Given the description of an element on the screen output the (x, y) to click on. 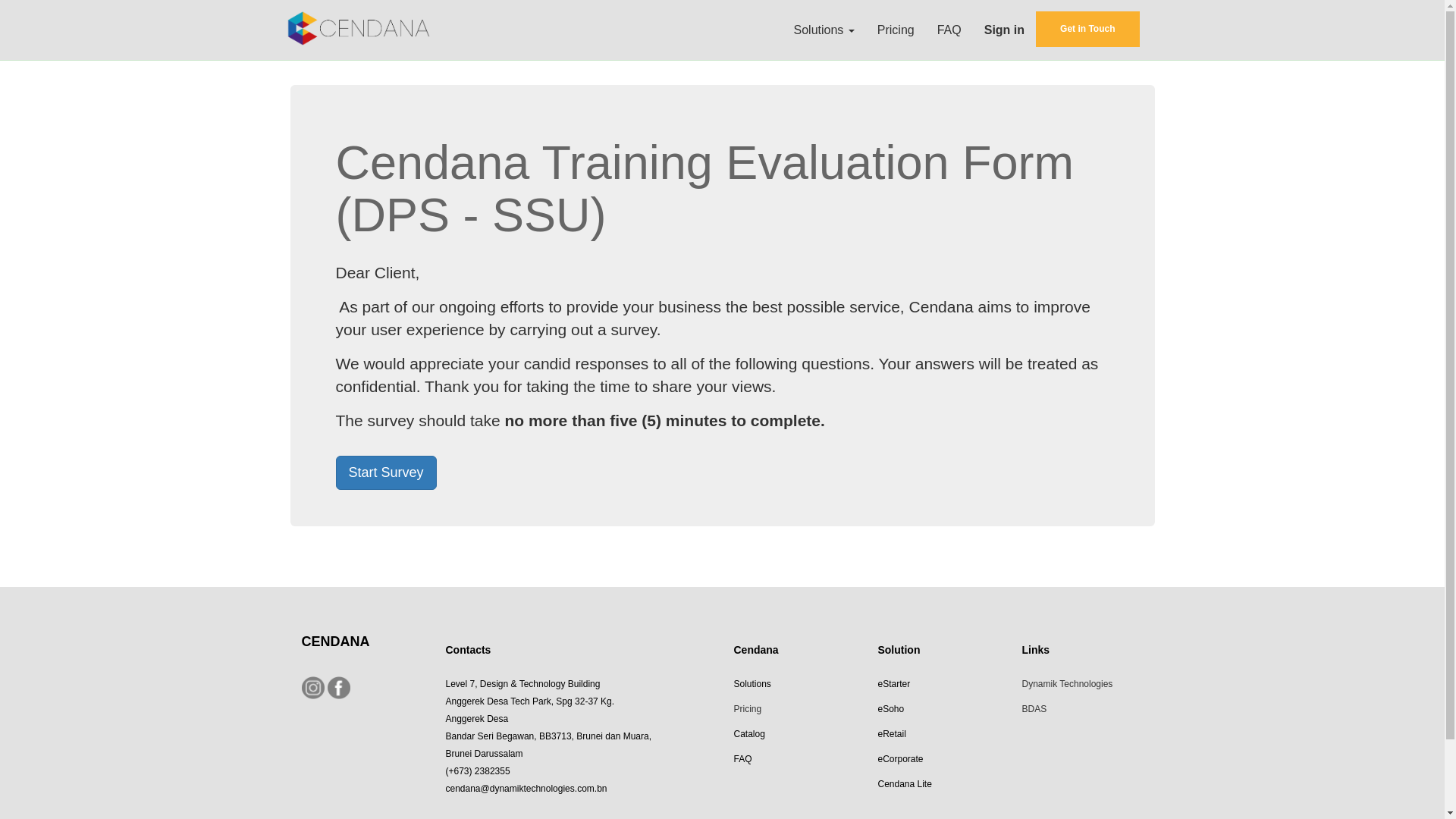
FAQ (949, 30)
Cendana Lite (904, 782)
Pricing (896, 30)
eCorporate (900, 757)
eStarter  (894, 682)
eRetail (891, 732)
BDAS (1034, 707)
Dynamik Technologies (1067, 682)
Sign in (1003, 30)
eSoho (890, 707)
Pricing (747, 707)
Catalog (748, 732)
FAQ (742, 757)
Solutions (751, 682)
Solutions (824, 30)
